Given the description of an element on the screen output the (x, y) to click on. 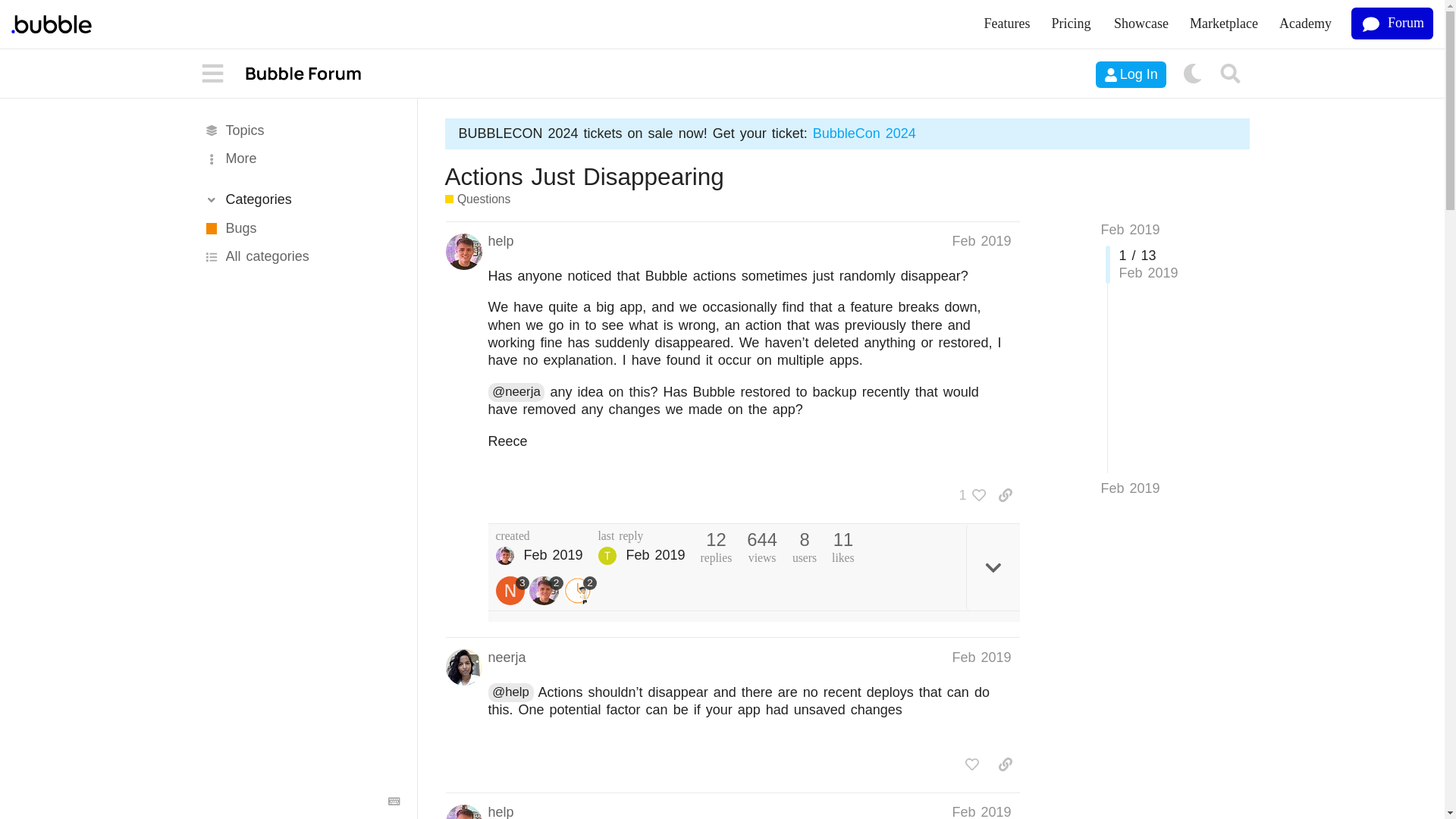
Toggle section (300, 199)
Jump to the first post (1129, 229)
Toggle color scheme (1192, 73)
3 (512, 591)
BubbleCon 2024 (863, 133)
Actions Just Disappearing (583, 176)
Features (1007, 24)
Marketplace (1223, 24)
1 person liked this post (967, 494)
Jump to the last post (1129, 488)
Showcase (1141, 24)
Keyboard Shortcuts (394, 801)
2 (579, 591)
Questions (477, 199)
